Given the description of an element on the screen output the (x, y) to click on. 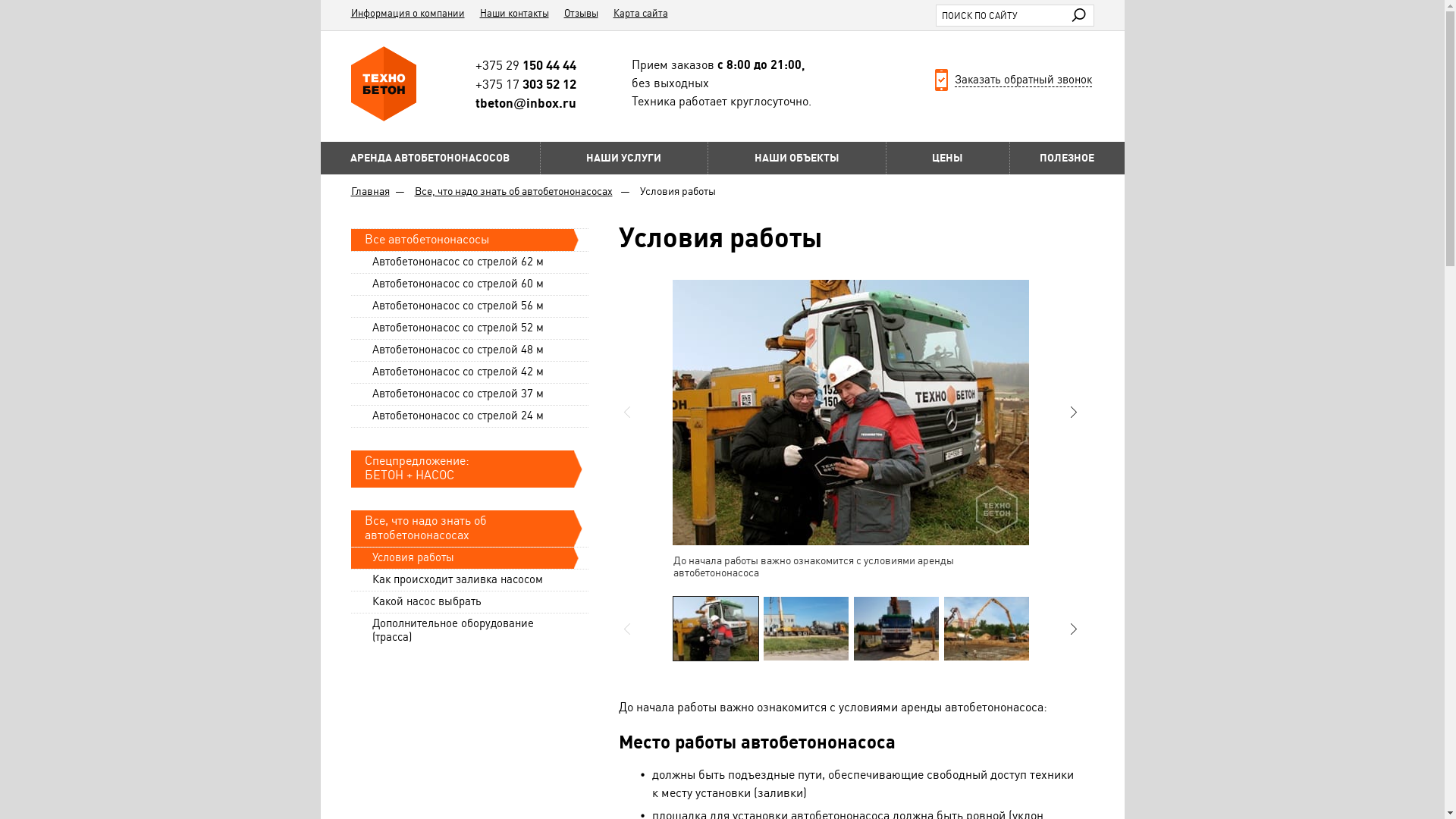
+375 29 150 44 44 Element type: text (525, 64)
+375 17 303 52 12 Element type: text (525, 83)
tbeton@inbox.ru Element type: text (525, 102)
